Given the description of an element on the screen output the (x, y) to click on. 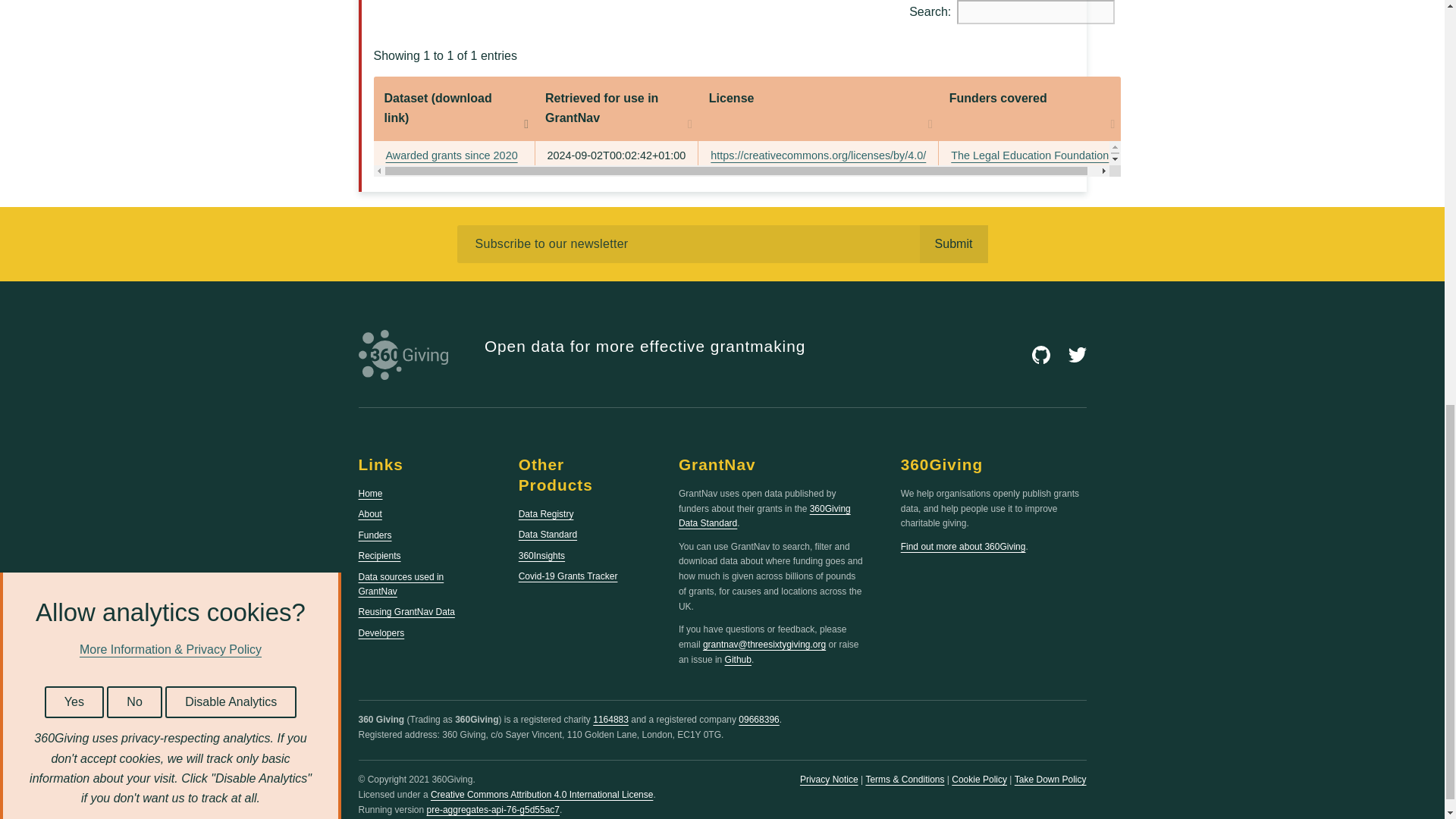
Data Registry (545, 513)
The Legal Education Foundation (1029, 155)
Developers (381, 633)
Covid-19 Grants Tracker (567, 575)
Submit (952, 243)
Data sources used in GrantNav (401, 584)
Data Standard (547, 534)
Reusing GrantNav Data (406, 611)
About (369, 513)
Awarded grants since 2020 (450, 155)
